Given the description of an element on the screen output the (x, y) to click on. 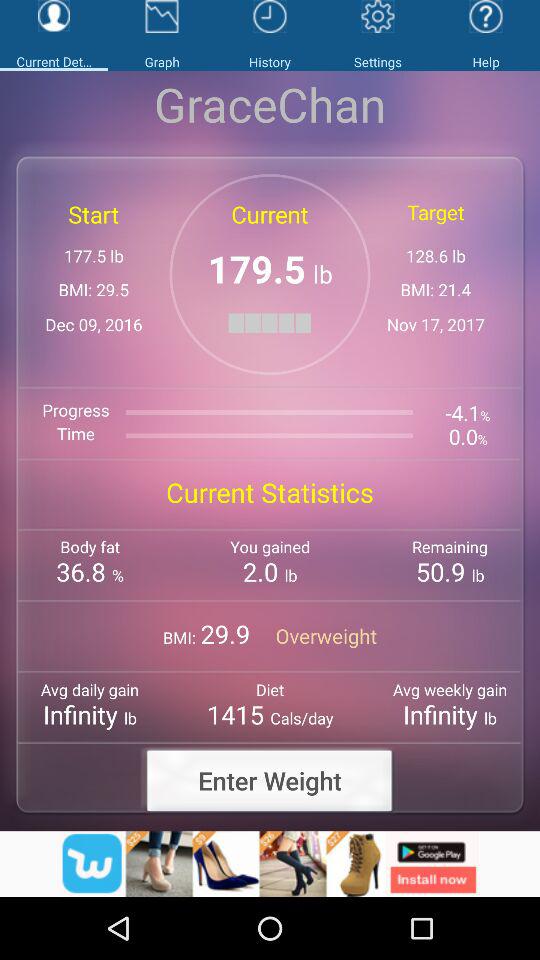
select the text enter weight which is in bottom of the page (270, 780)
